Given the description of an element on the screen output the (x, y) to click on. 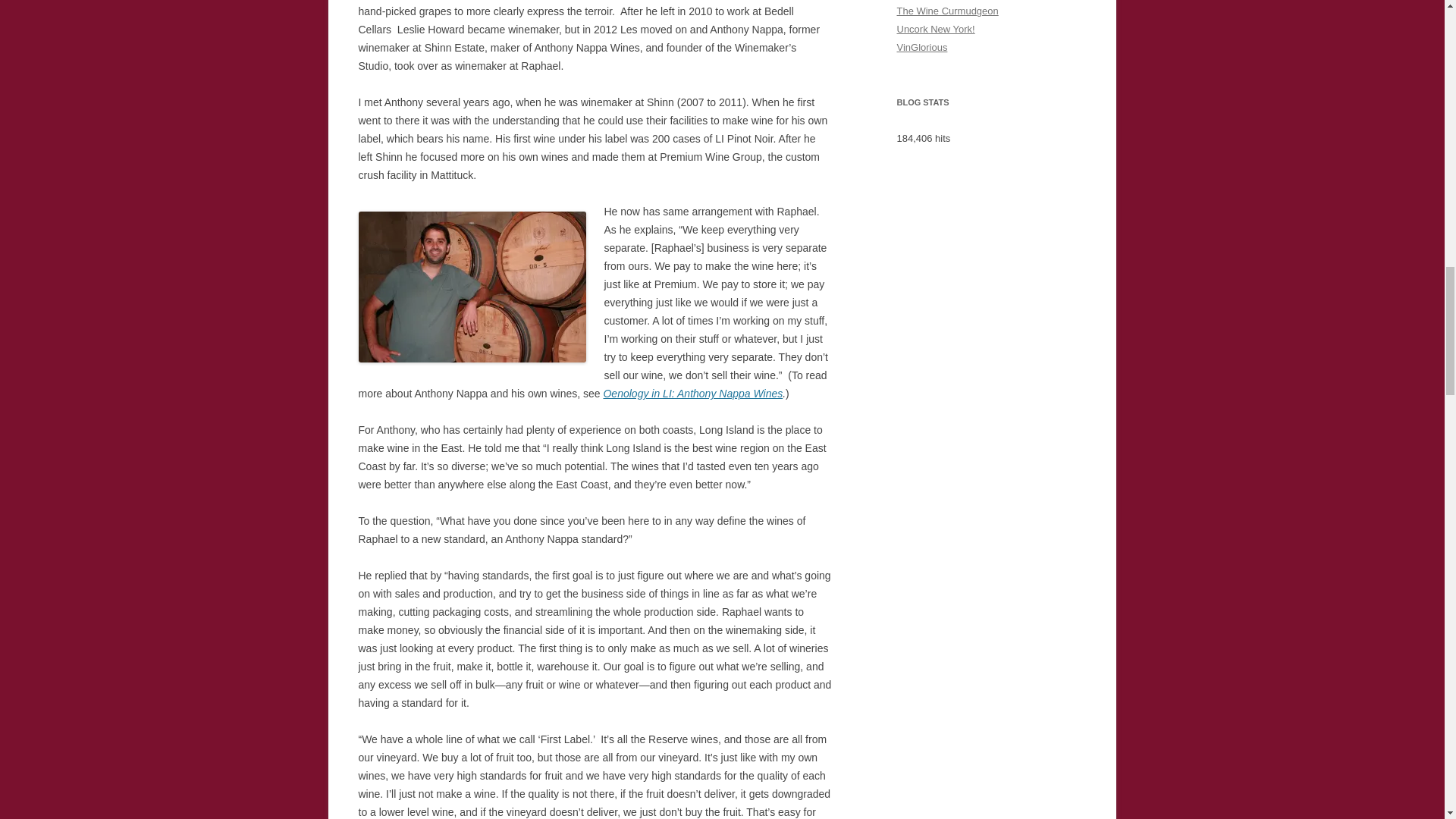
Oenology in LI: Anthony Nappa Wines (692, 393)
Wineries in all of NY State, Wines, Retail, Restaurants (935, 29)
